Given the description of an element on the screen output the (x, y) to click on. 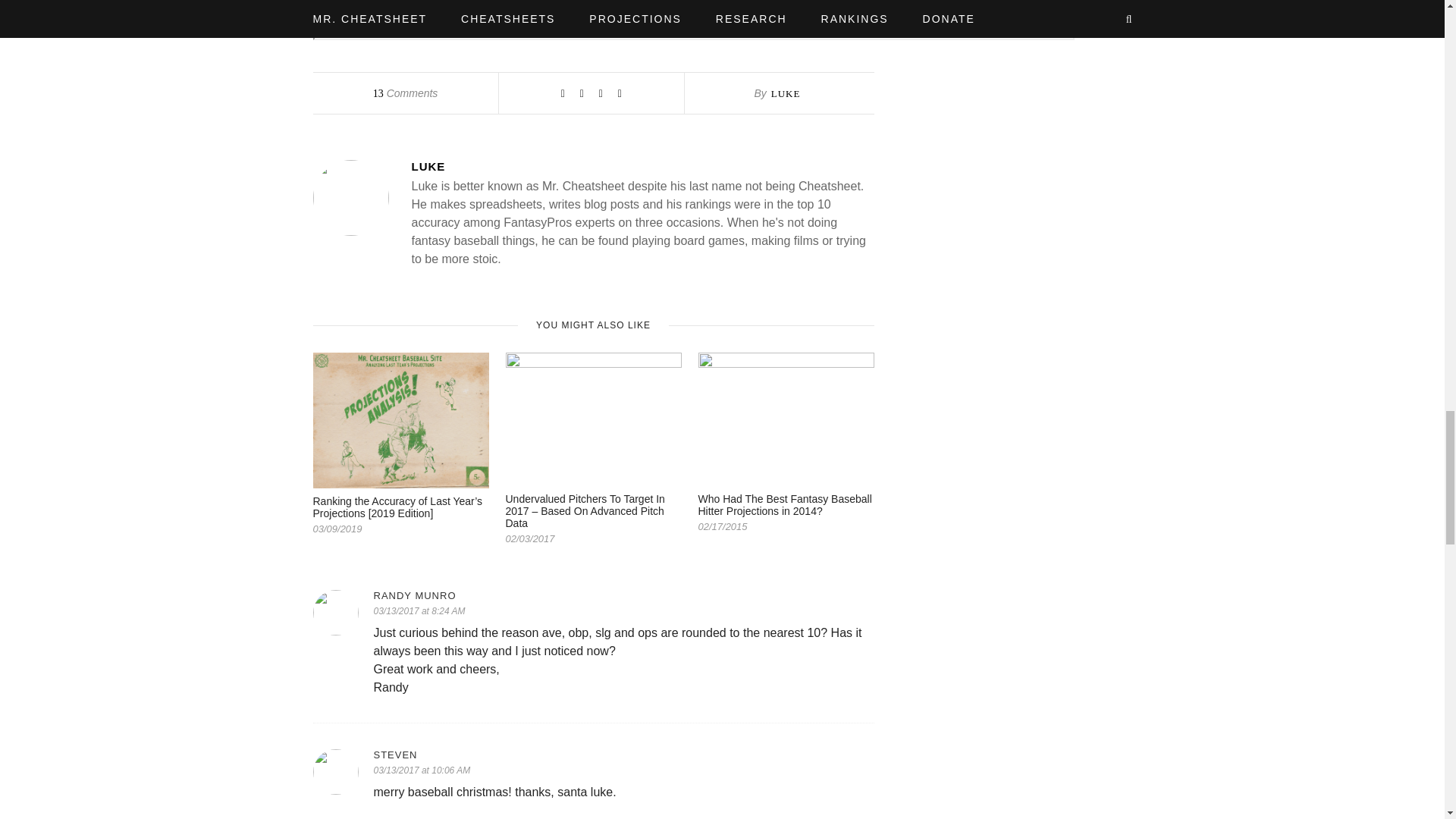
Posts by Luke (785, 93)
Posts by Luke (641, 165)
13 Comments (405, 92)
